Given the description of an element on the screen output the (x, y) to click on. 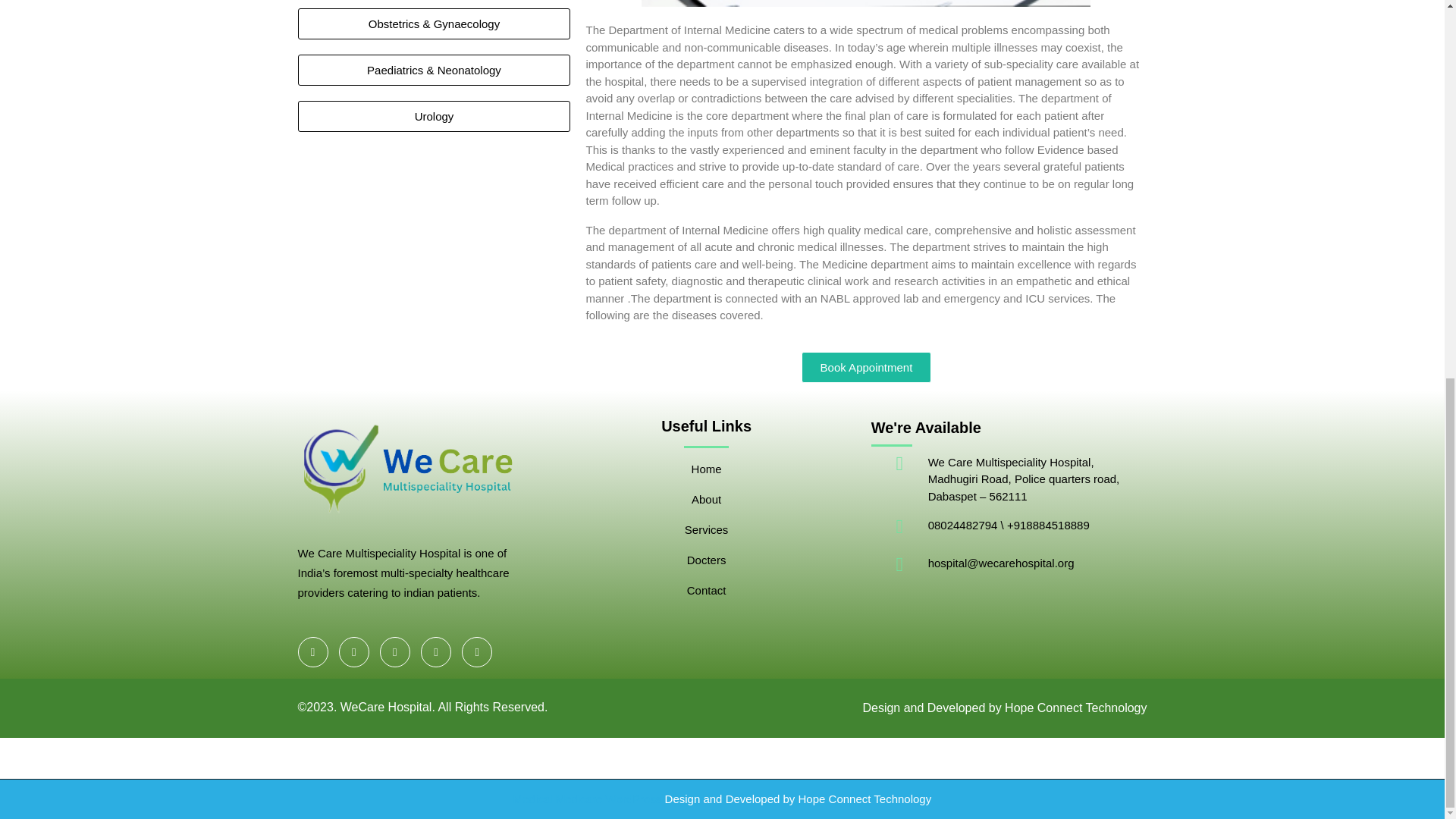
About (705, 499)
Services (706, 530)
Design and Developed by Hope Connect Technology (1004, 708)
Medical Medicare WordPress (587, 798)
Book Appointment (866, 367)
Docters (706, 560)
Home (706, 469)
Contact (706, 590)
Urology (433, 115)
